Given the description of an element on the screen output the (x, y) to click on. 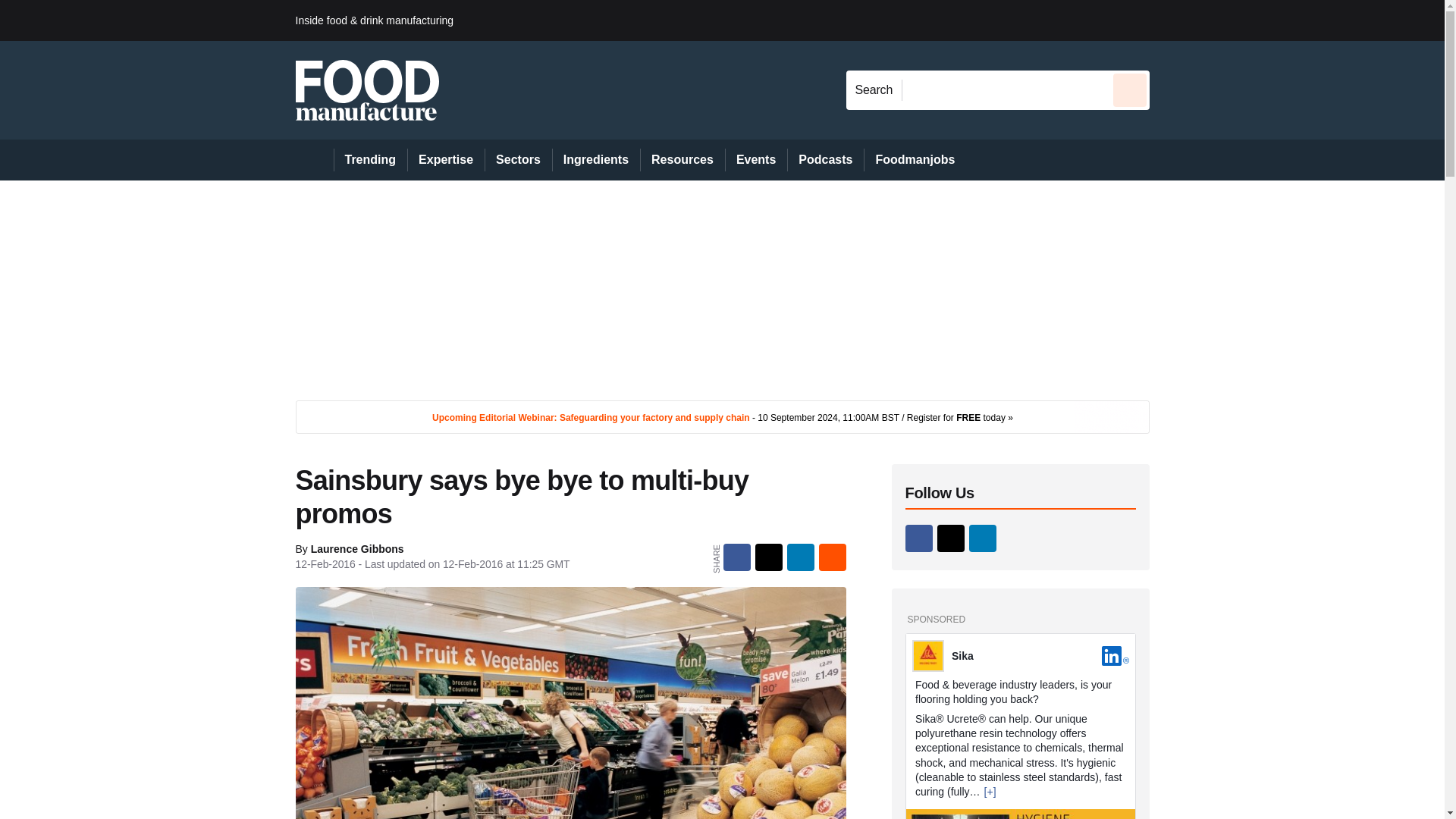
My account (1256, 20)
FoodManufacture (367, 89)
Expertise (445, 159)
Home (314, 159)
Home (313, 159)
Sign in (1171, 20)
Send (1129, 90)
REGISTER (1250, 20)
Trending (370, 159)
Sign out (1174, 20)
